Given the description of an element on the screen output the (x, y) to click on. 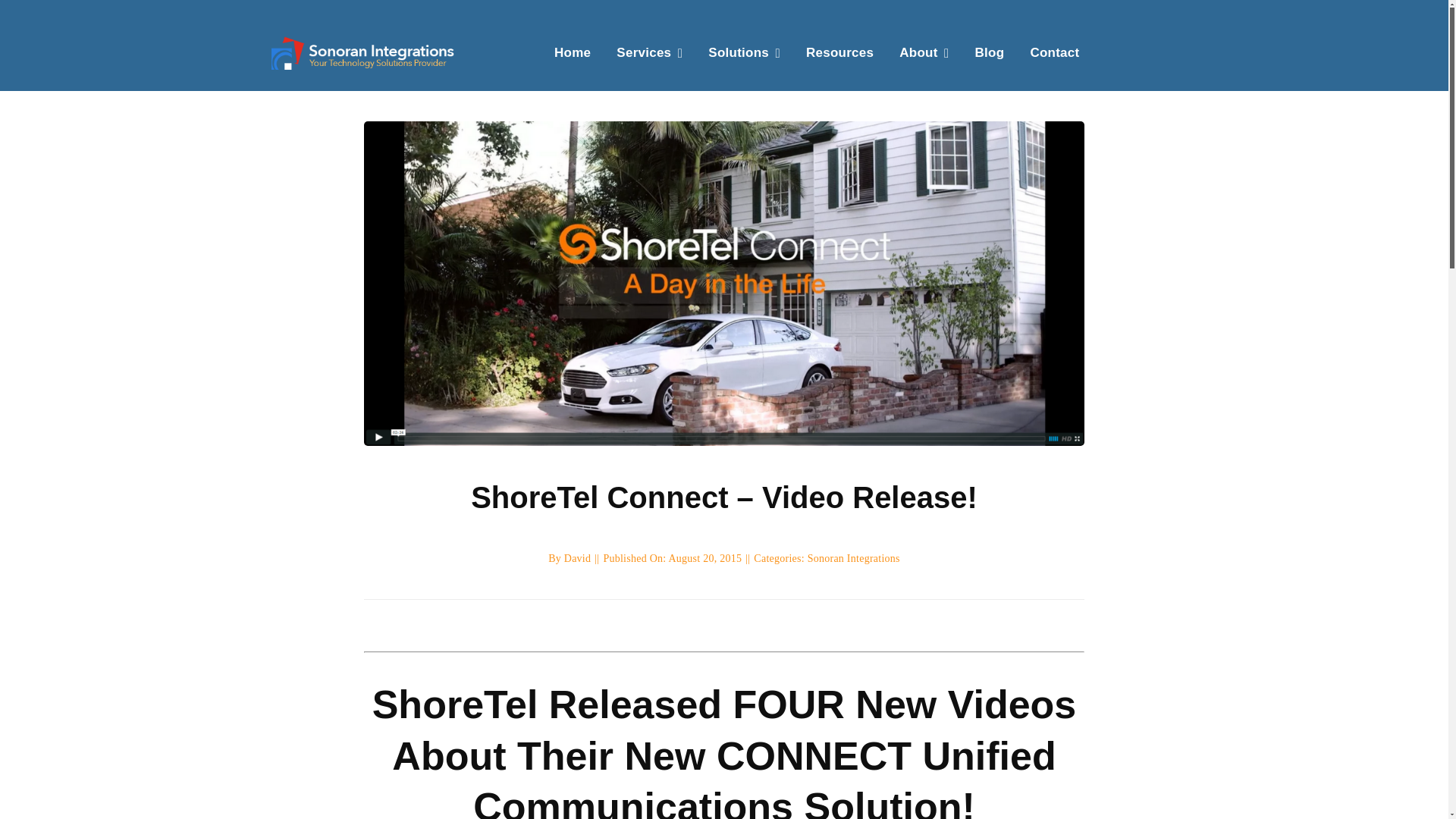
About (924, 52)
Posts by David (577, 558)
Solutions (743, 52)
Sonoran Integrations (853, 558)
Services (648, 52)
Resources (839, 52)
Contact (1053, 52)
David (577, 558)
